Given the description of an element on the screen output the (x, y) to click on. 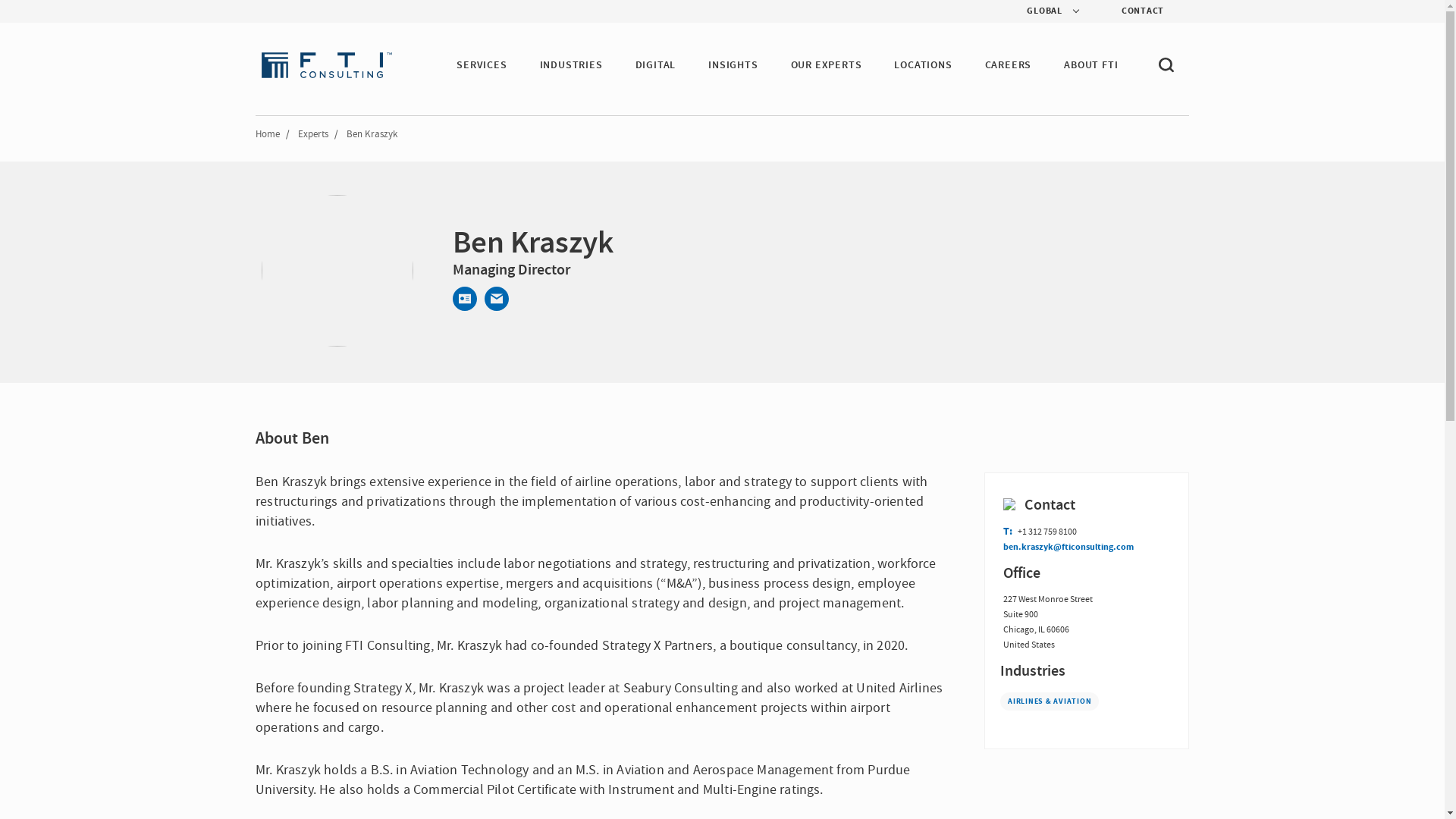
Industries (1086, 670)
Key Contacts (1067, 505)
SERVICES (481, 65)
Airlines and Aviation (1049, 700)
CONTACT (1129, 11)
INDUSTRIES (571, 65)
